Given the description of an element on the screen output the (x, y) to click on. 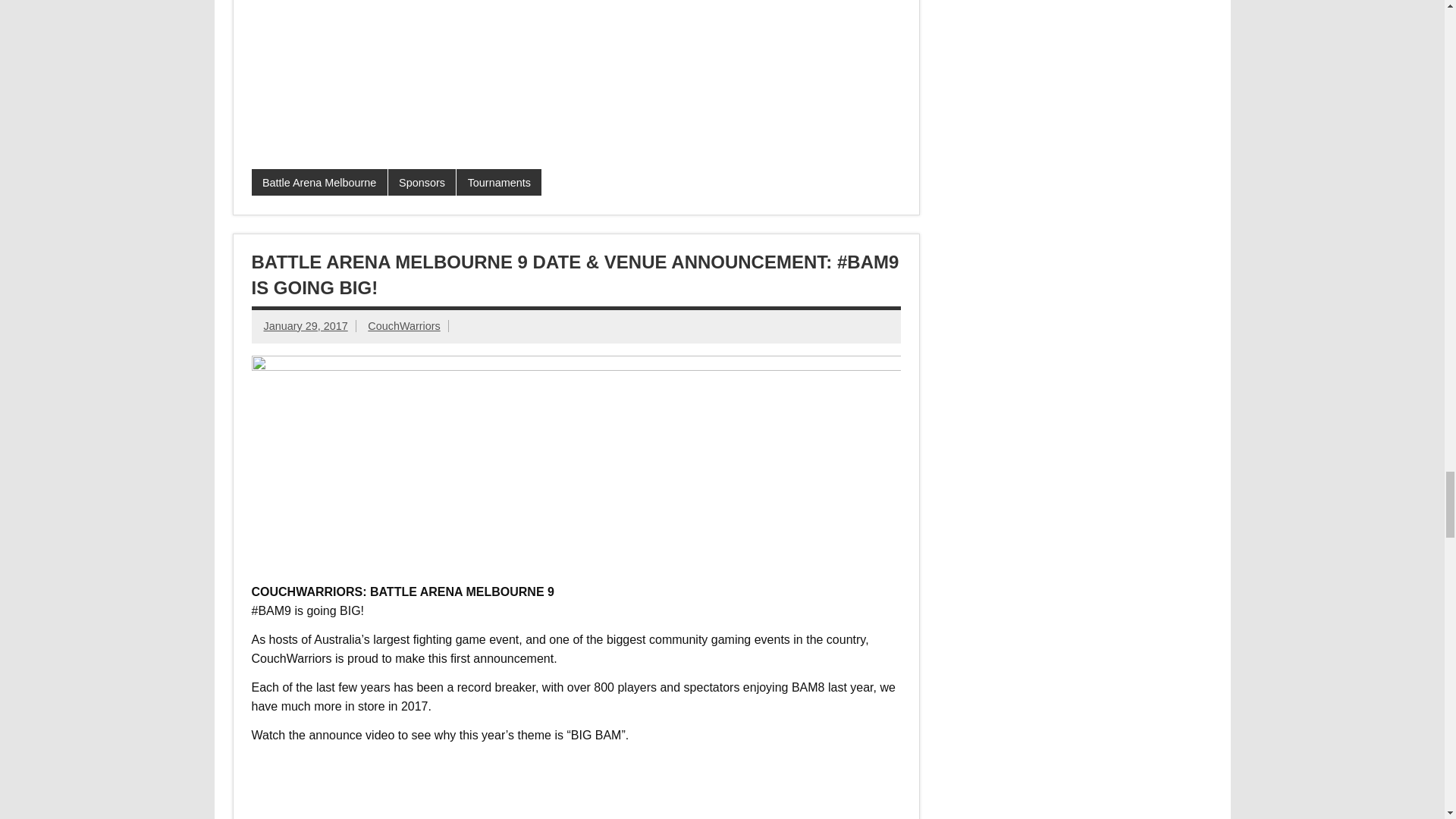
View all posts by CouchWarriors (403, 326)
9:29 pm (305, 326)
